Given the description of an element on the screen output the (x, y) to click on. 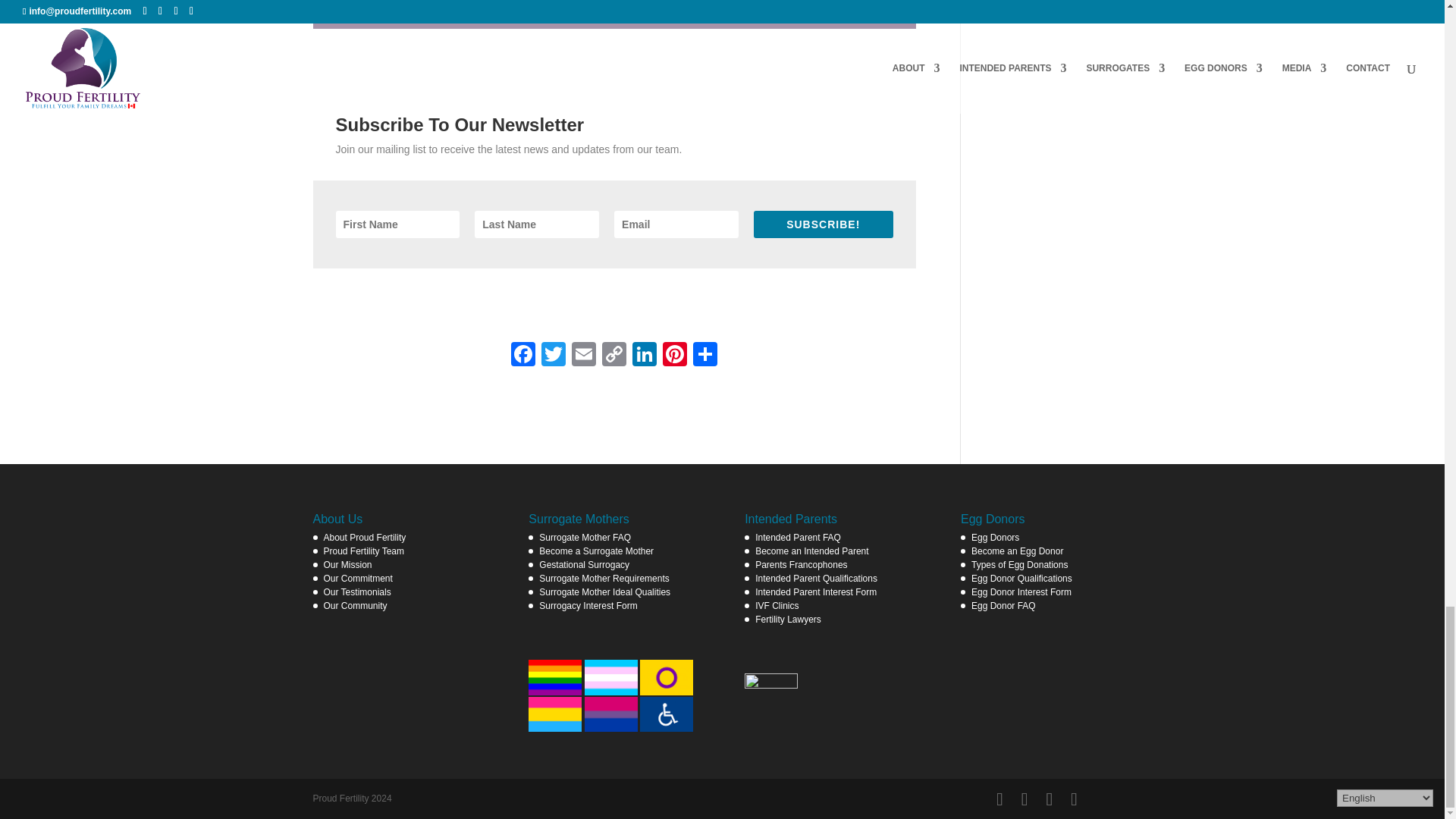
Facebook (523, 356)
Email (583, 356)
Copy Link (613, 356)
Twitter (553, 356)
LinkedIn (643, 356)
